Given the description of an element on the screen output the (x, y) to click on. 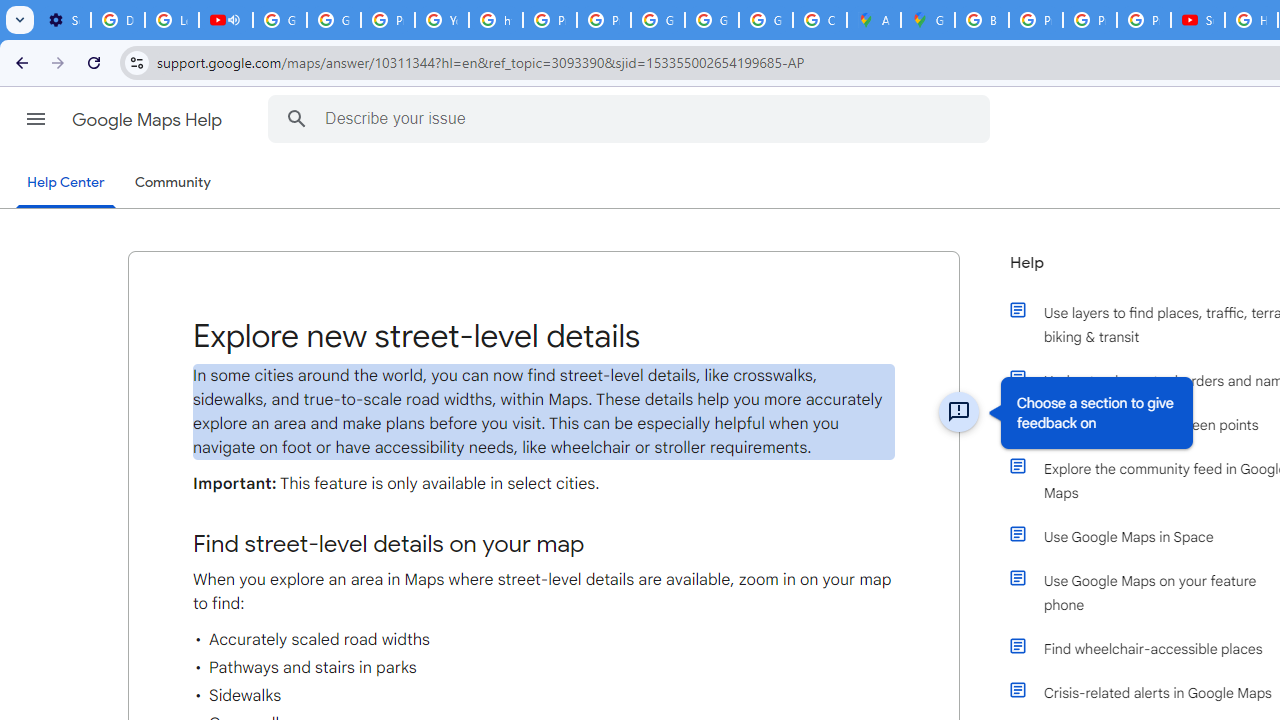
Settings - Customize profile (63, 20)
Find street-level details on your map (543, 543)
Privacy Help Center - Policies Help (1035, 20)
Search Help Center (297, 118)
